Given the description of an element on the screen output the (x, y) to click on. 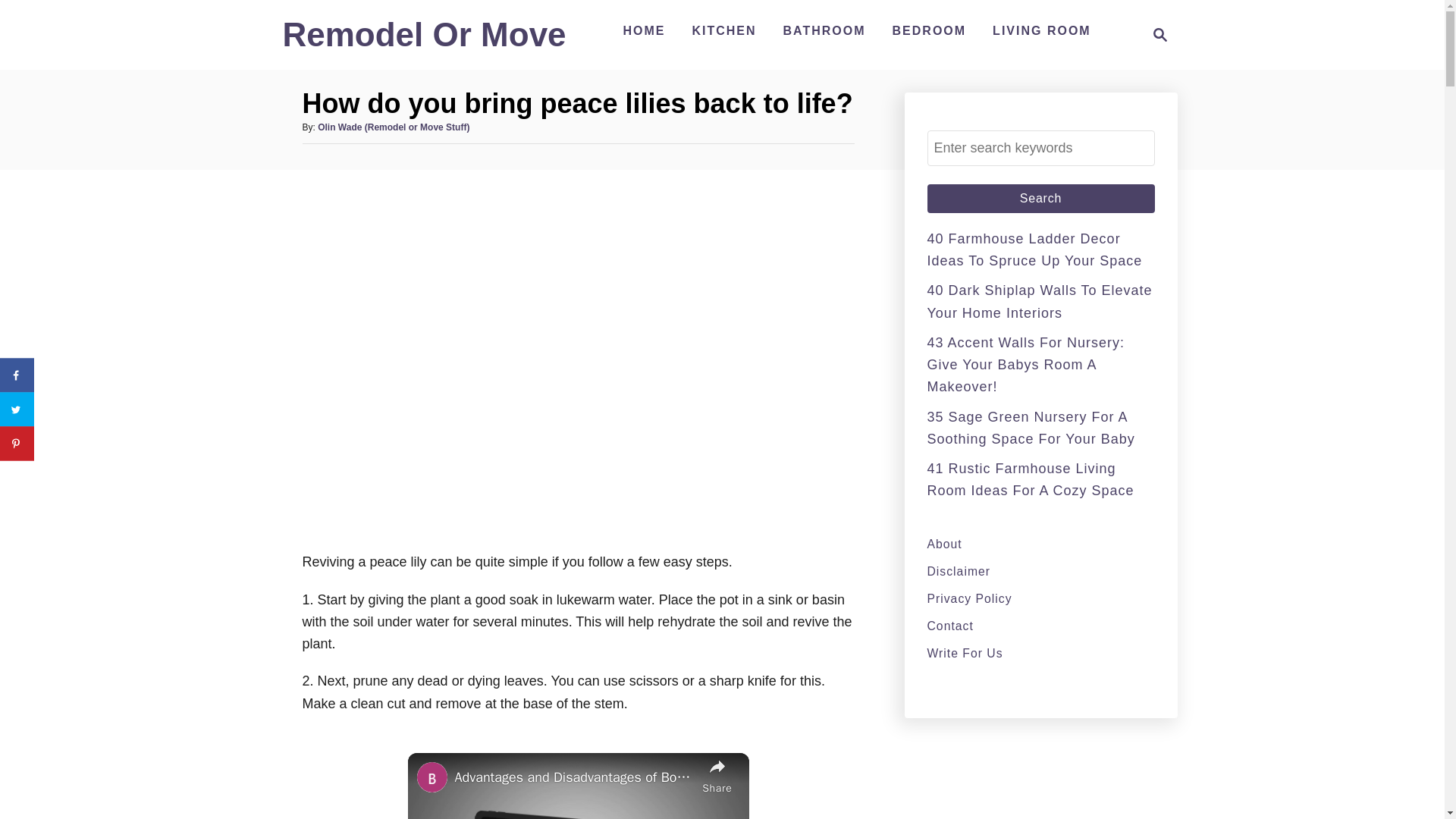
Search (1040, 198)
KITCHEN (723, 30)
Search for: (1040, 148)
Share on Facebook (1155, 34)
Search (16, 374)
40 Farmhouse Ladder Decor Ideas To Spruce Up Your Space (1040, 198)
Disclaimer (1033, 249)
Remodel Or Move (1040, 570)
HOME (424, 41)
Search (643, 30)
Privacy Policy (1040, 198)
Share on Twitter (1040, 598)
About (16, 409)
41 Rustic Farmhouse Living Room Ideas For A Cozy Space (1040, 543)
